Given the description of an element on the screen output the (x, y) to click on. 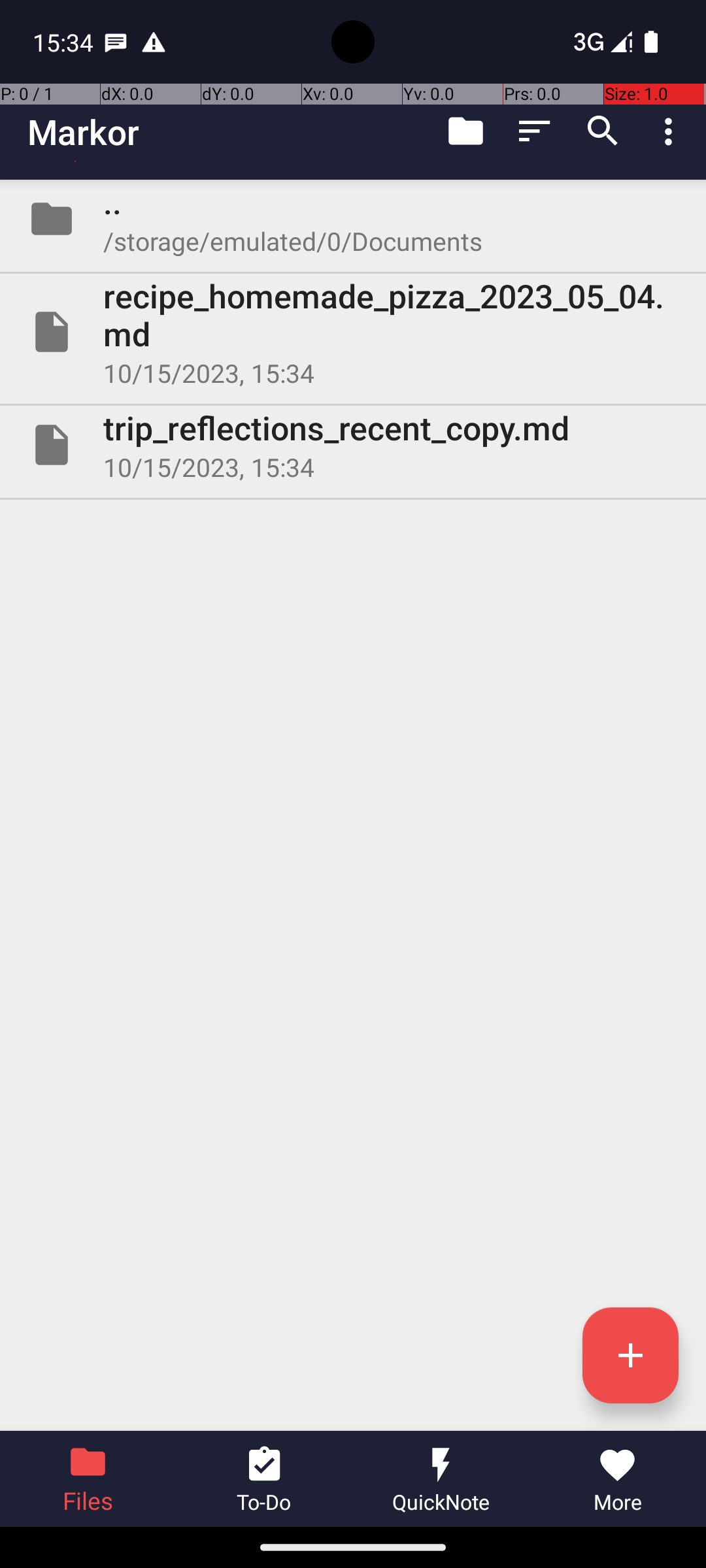
Create a new file or folder Element type: android.widget.ImageButton (630, 1355)
Go to Element type: android.widget.TextView (465, 131)
Folder ..  Element type: android.widget.LinearLayout (353, 218)
File recipe_homemade_pizza_2023_05_04.md  Element type: android.widget.LinearLayout (353, 331)
File trip_reflections_recent_copy.md  Element type: android.widget.LinearLayout (353, 444)
